Given the description of an element on the screen output the (x, y) to click on. 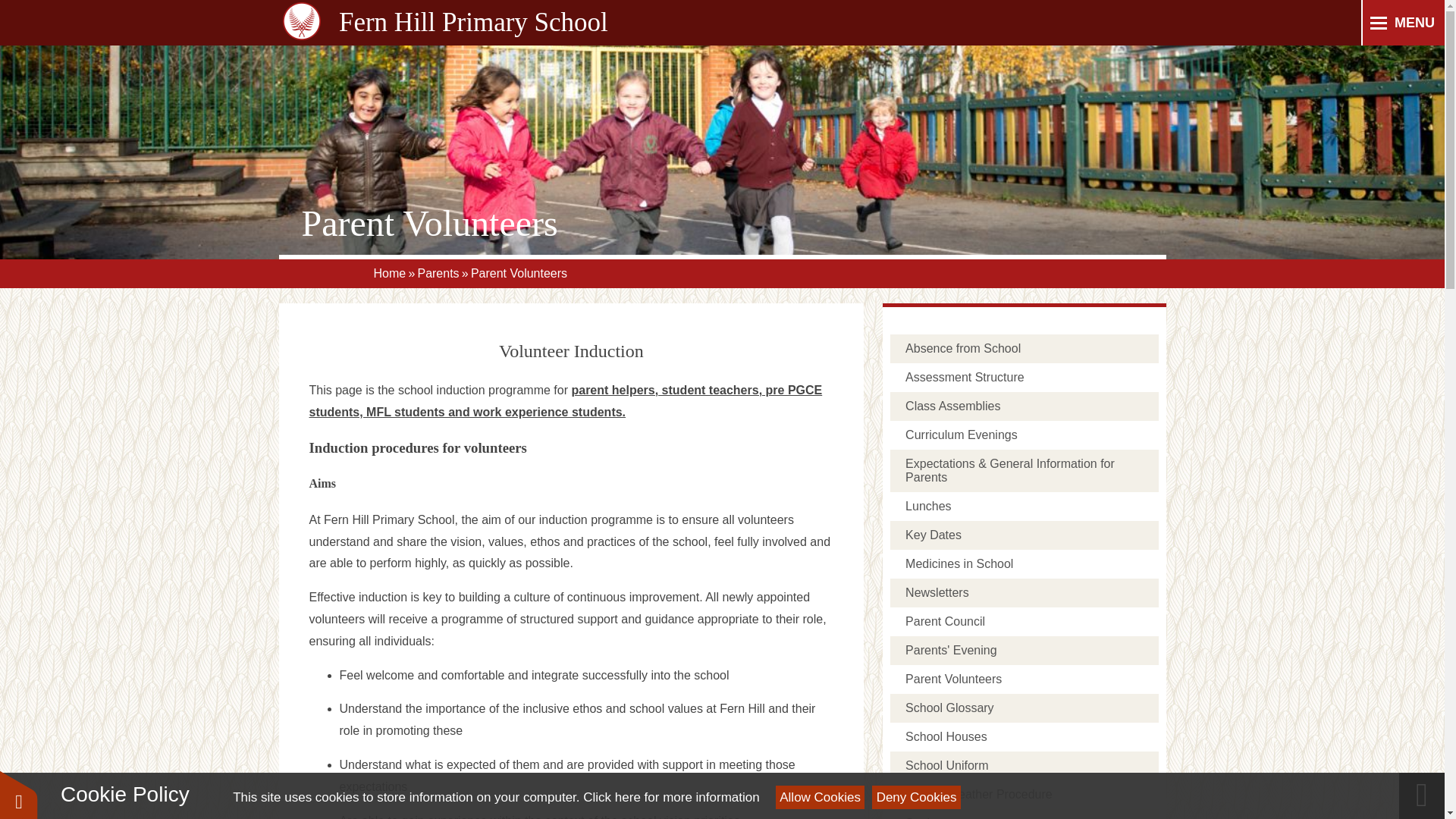
Parent Volunteers (518, 273)
Parents (437, 273)
See cookie policy (670, 797)
Allow Cookies (820, 797)
Fern Hill Primary School (299, 22)
Home (389, 273)
Deny Cookies (915, 797)
